Given the description of an element on the screen output the (x, y) to click on. 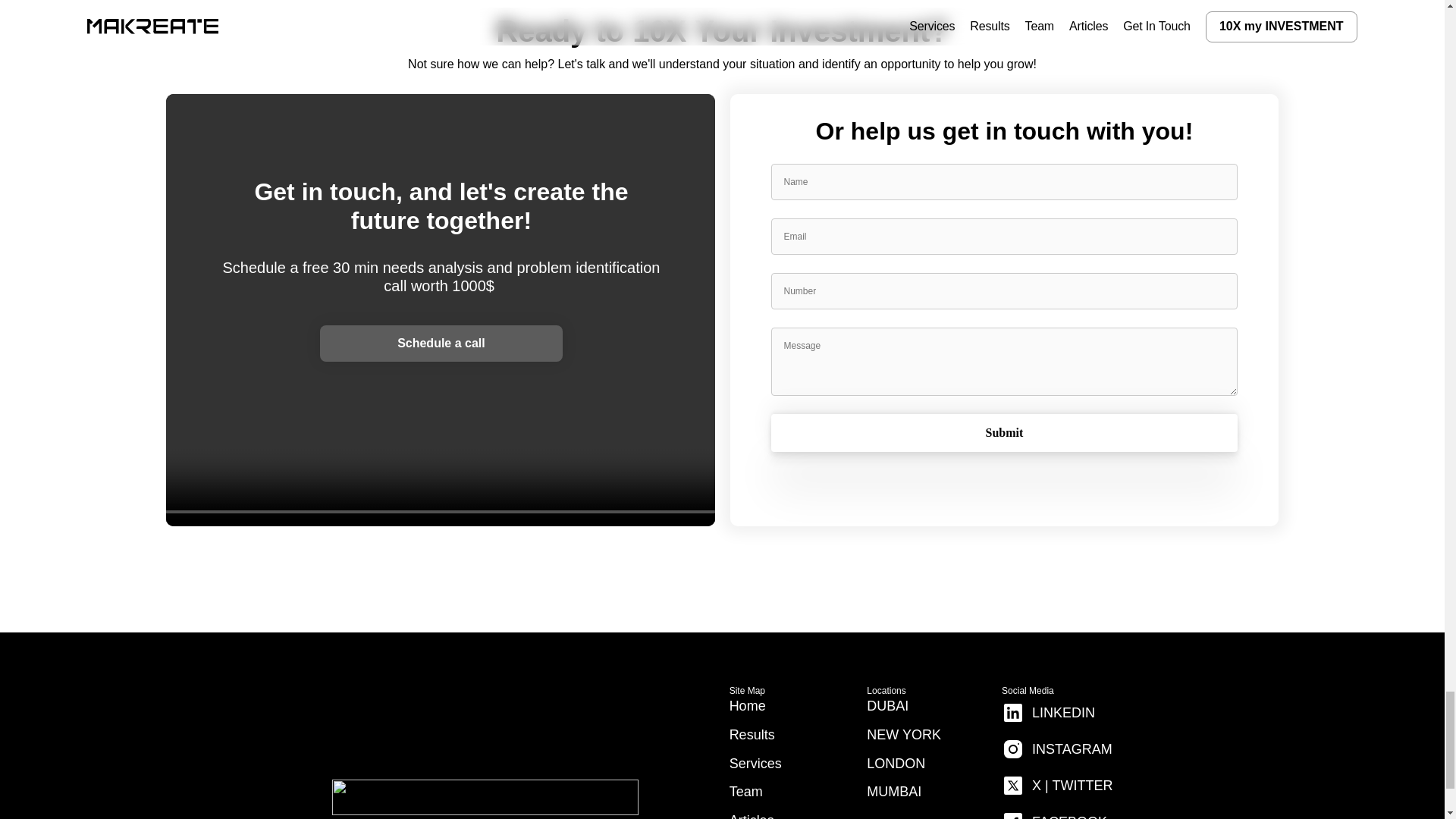
Team (745, 791)
Home (747, 705)
Results (751, 734)
Submit (1003, 433)
LINKEDIN (1047, 712)
Articles (751, 816)
Submit (1003, 433)
Services (755, 763)
Schedule a call (441, 343)
INSTAGRAM (1056, 748)
FACEBOOK (1053, 813)
